Given the description of an element on the screen output the (x, y) to click on. 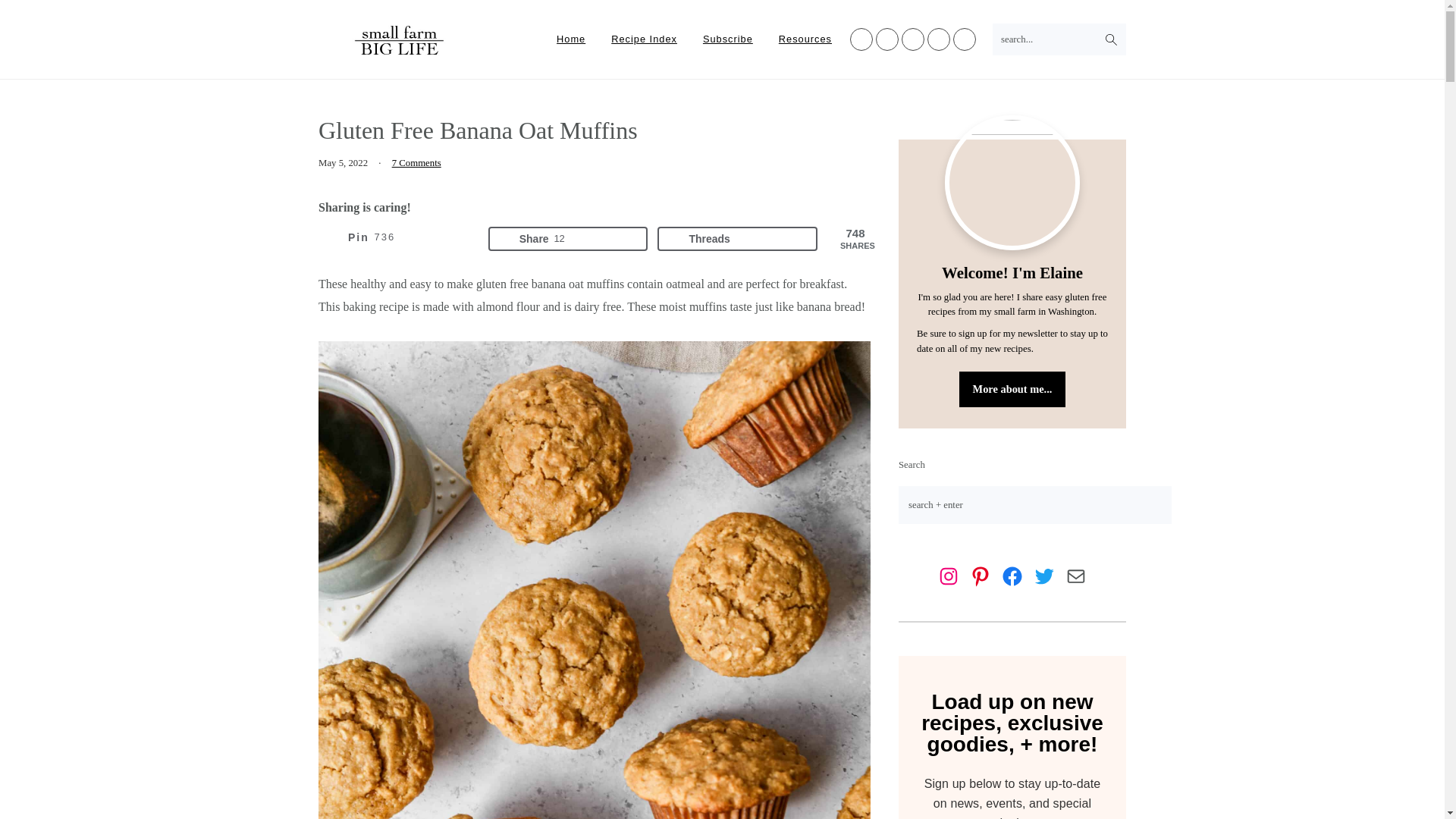
Resources (805, 39)
Save to Pinterest (567, 238)
Threads (398, 238)
Small Farm Big Life (737, 238)
Search (399, 52)
